Given the description of an element on the screen output the (x, y) to click on. 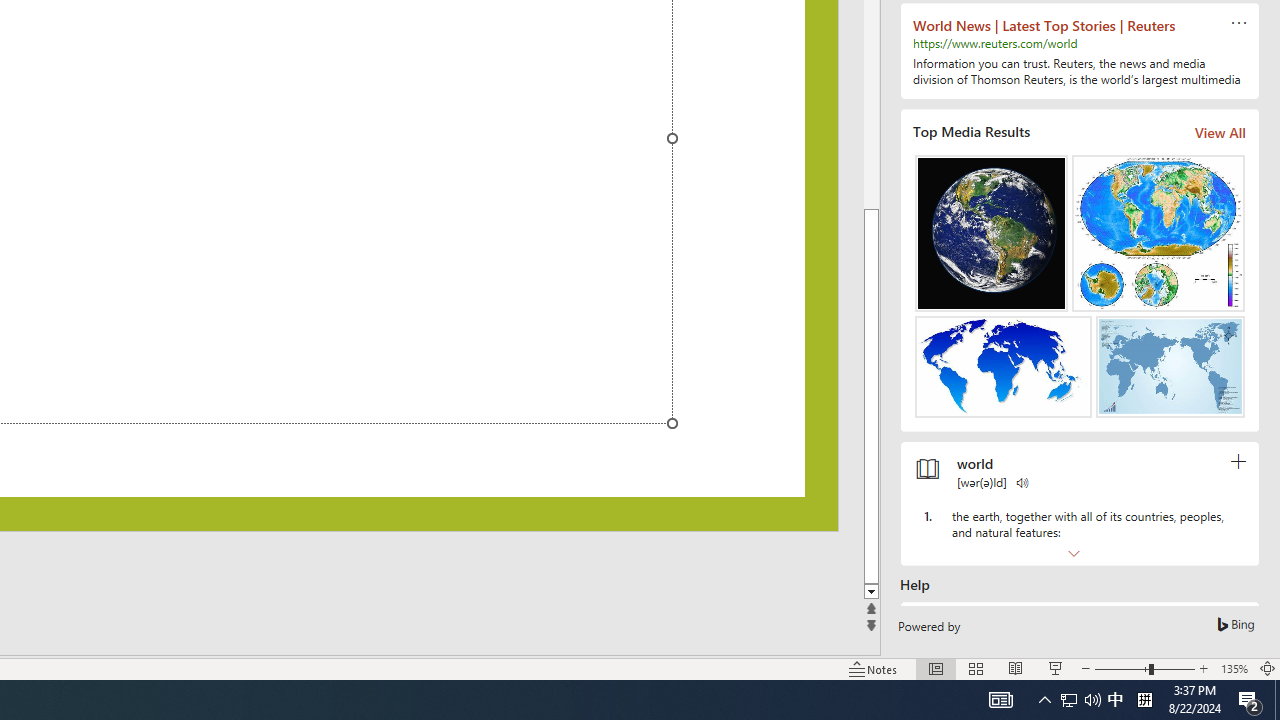
Zoom 135% (1234, 668)
